Given the description of an element on the screen output the (x, y) to click on. 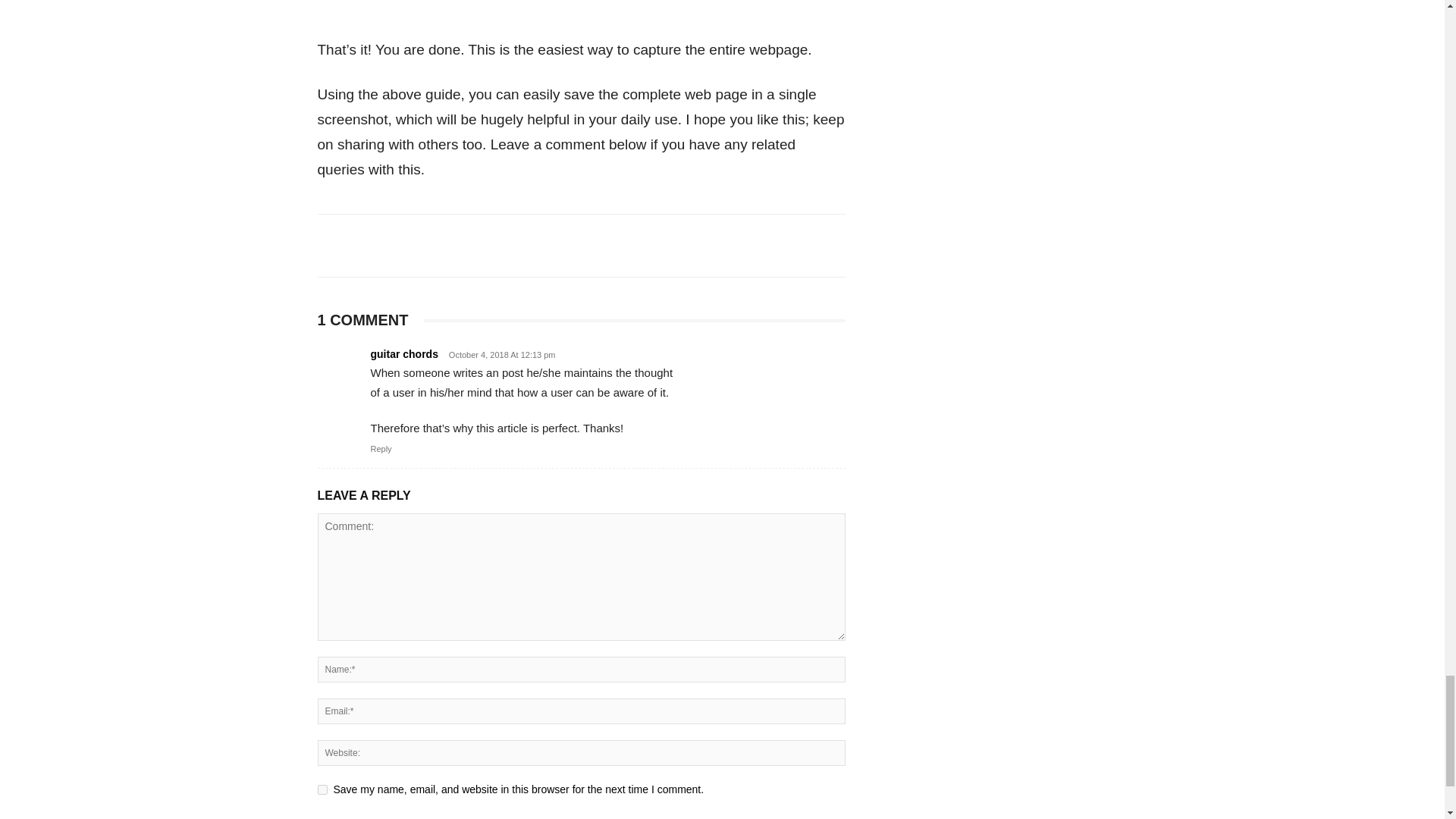
yes (321, 789)
